Given the description of an element on the screen output the (x, y) to click on. 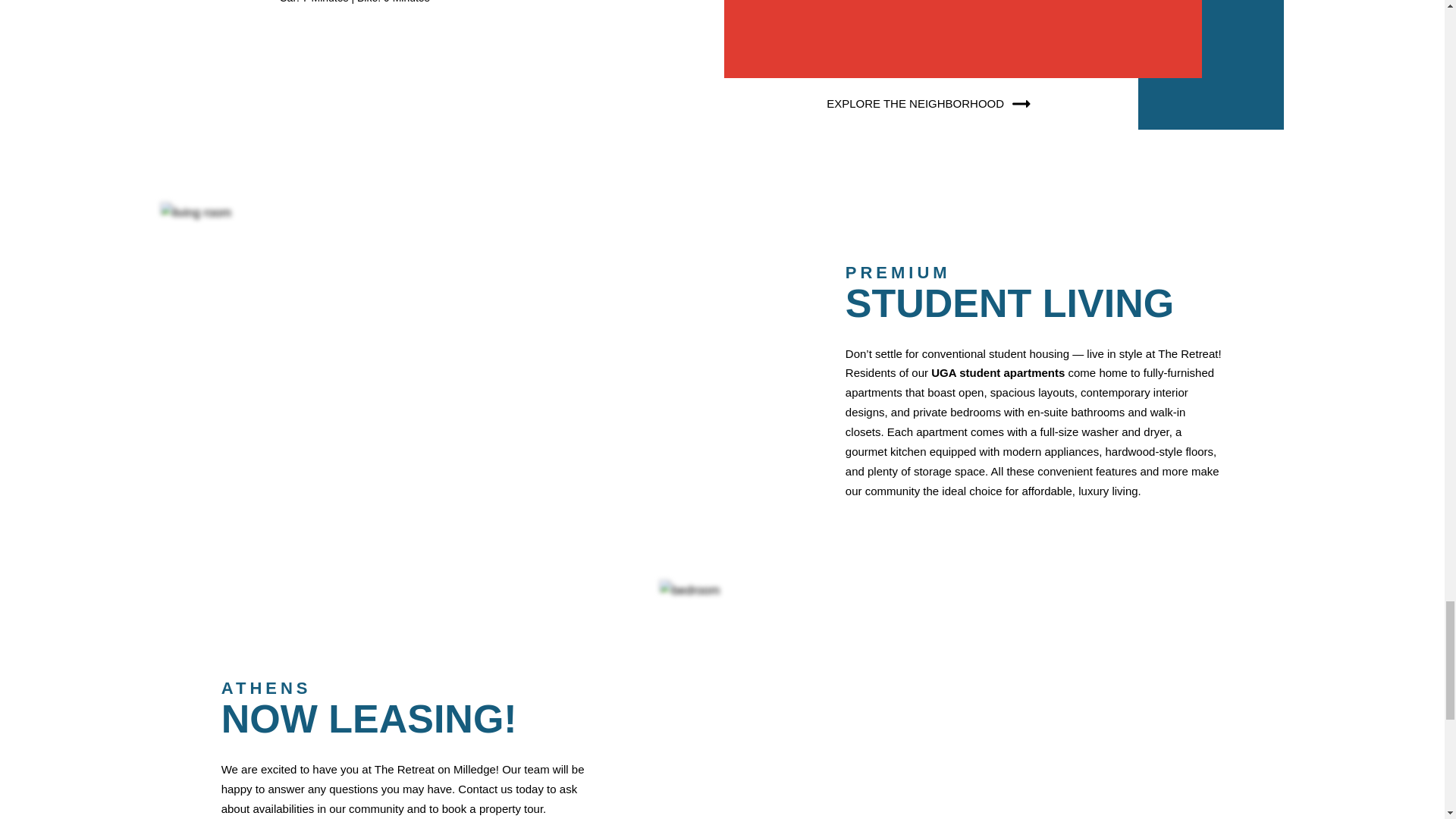
EXPLORE THE NEIGHBORHOOD (931, 103)
